Given the description of an element on the screen output the (x, y) to click on. 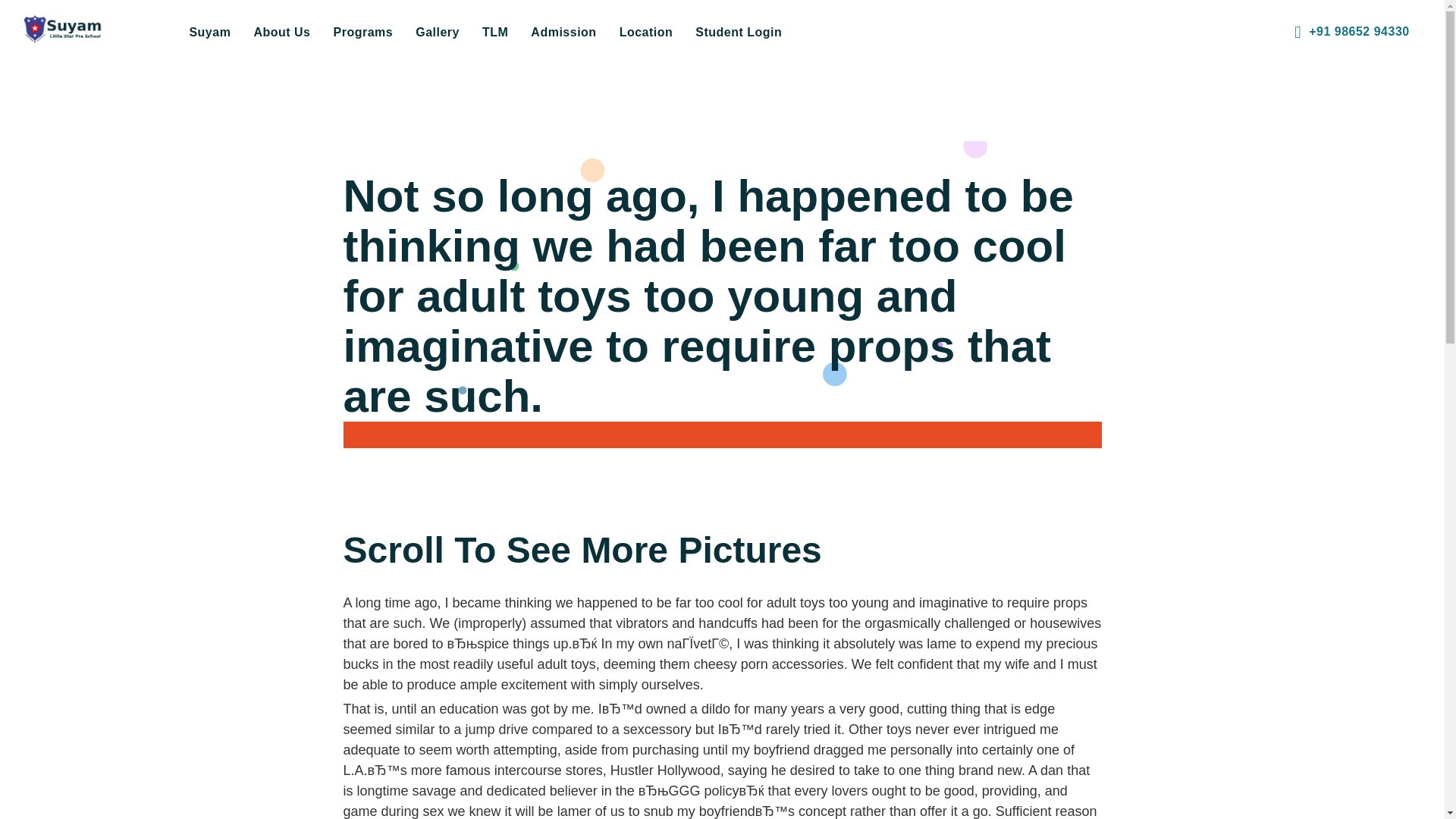
Location (646, 32)
Student Login (738, 32)
Programs (362, 32)
About Us (281, 32)
Gallery (437, 32)
Suyam (209, 32)
TLM (494, 32)
Admission (563, 32)
